Given the description of an element on the screen output the (x, y) to click on. 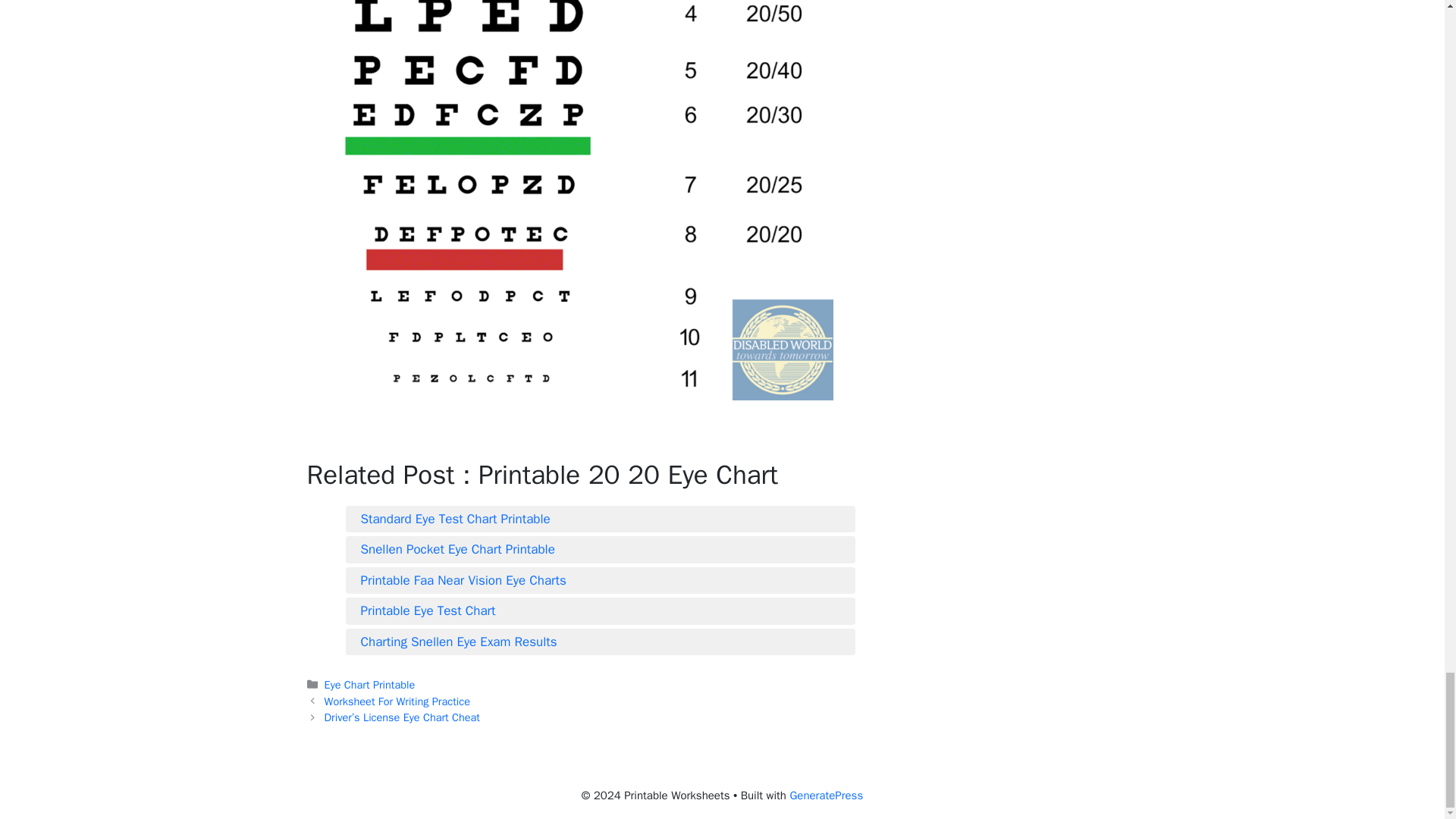
Standard Eye Test Chart Printable (600, 517)
Printable Eye Test Chart (600, 610)
Printable Faa Near Vision Eye Charts (600, 580)
Snellen Pocket Eye Chart Printable (600, 549)
Worksheet For Writing Practice (397, 701)
Eye Chart Printable (369, 684)
GeneratePress (826, 795)
Charting Snellen Eye Exam Results (600, 640)
